Given the description of an element on the screen output the (x, y) to click on. 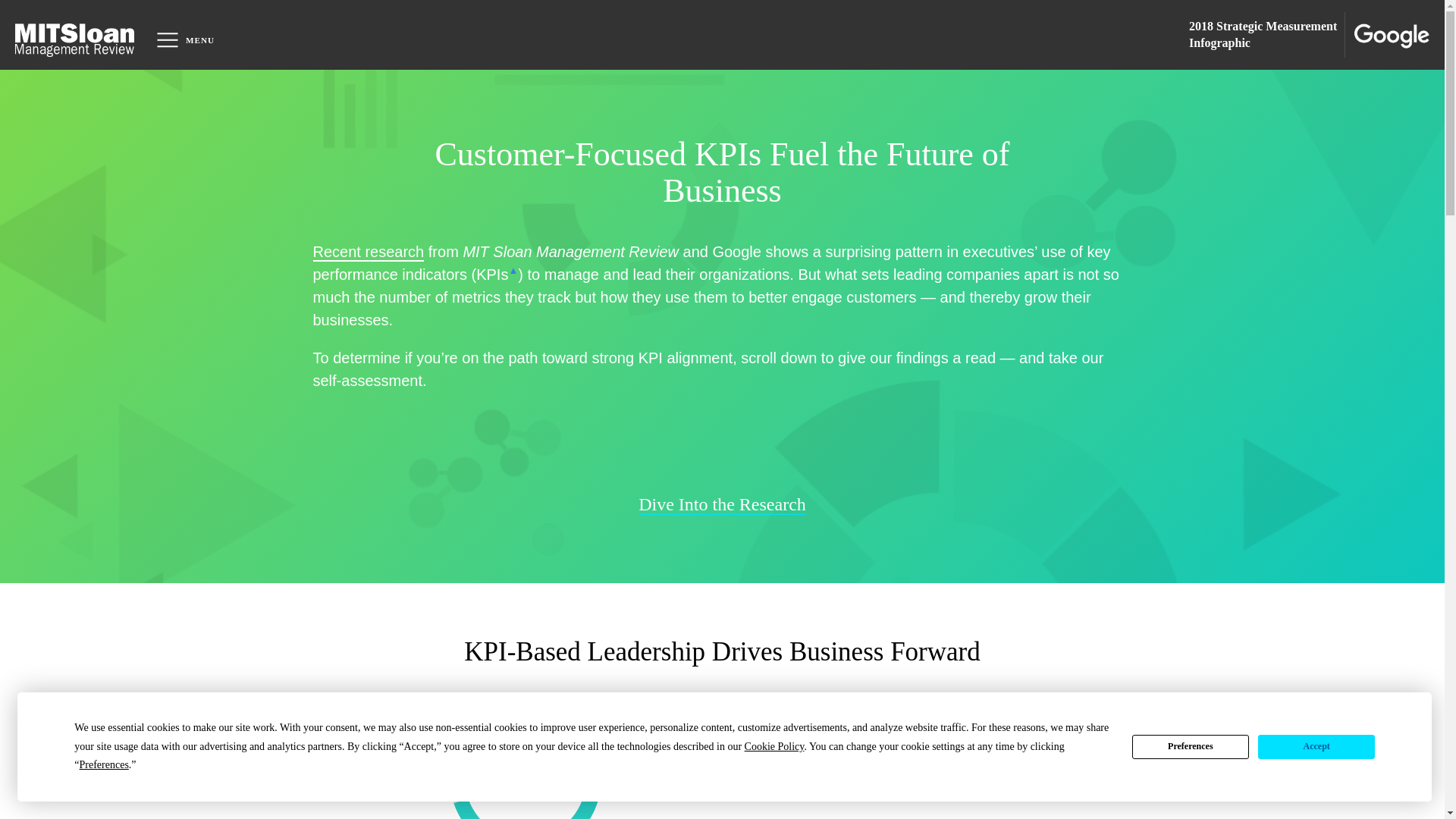
Google (1388, 32)
Preferences (1190, 746)
MIT Sloan Management Review (78, 35)
MENU (185, 39)
Accept (1315, 746)
